Given the description of an element on the screen output the (x, y) to click on. 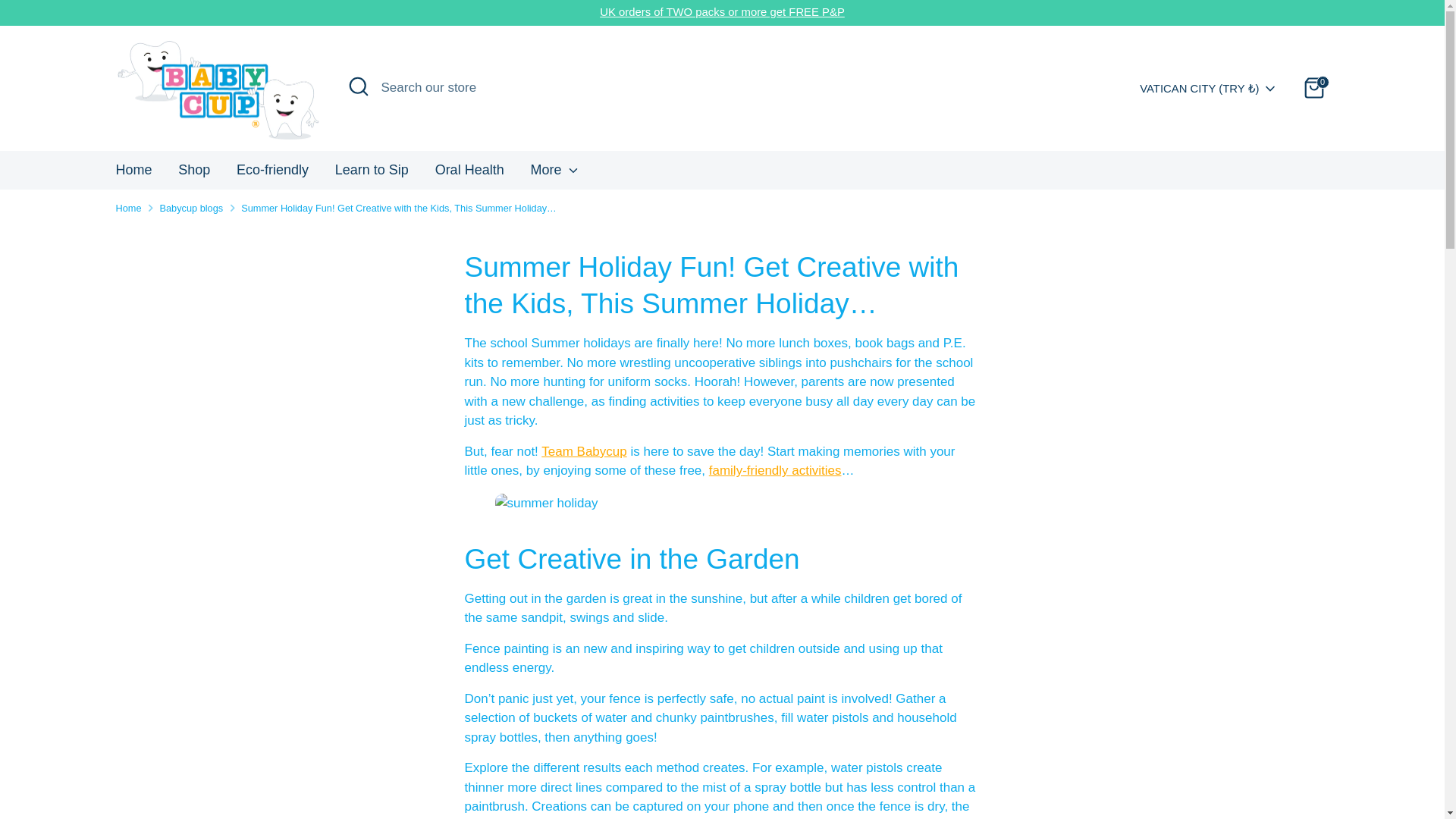
Babycup Sippeco Mini Open Cups - pack of four (833, 11)
Babycup Sippeco Mini Open Cups - pack of four (710, 11)
UK orders of TWO packs or more get FREE (710, 11)
